Given the description of an element on the screen output the (x, y) to click on. 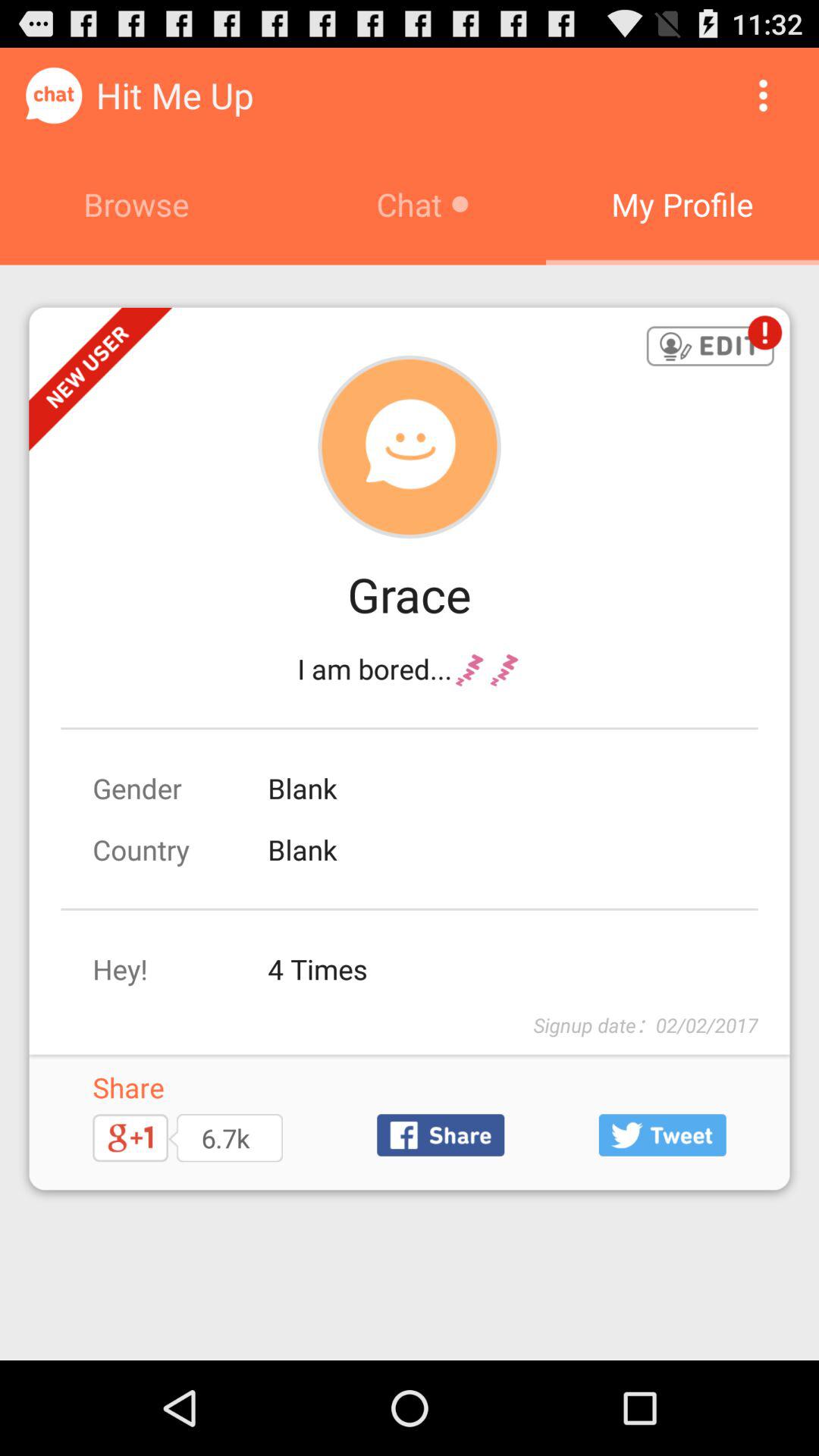
toggle share (440, 1135)
